Given the description of an element on the screen output the (x, y) to click on. 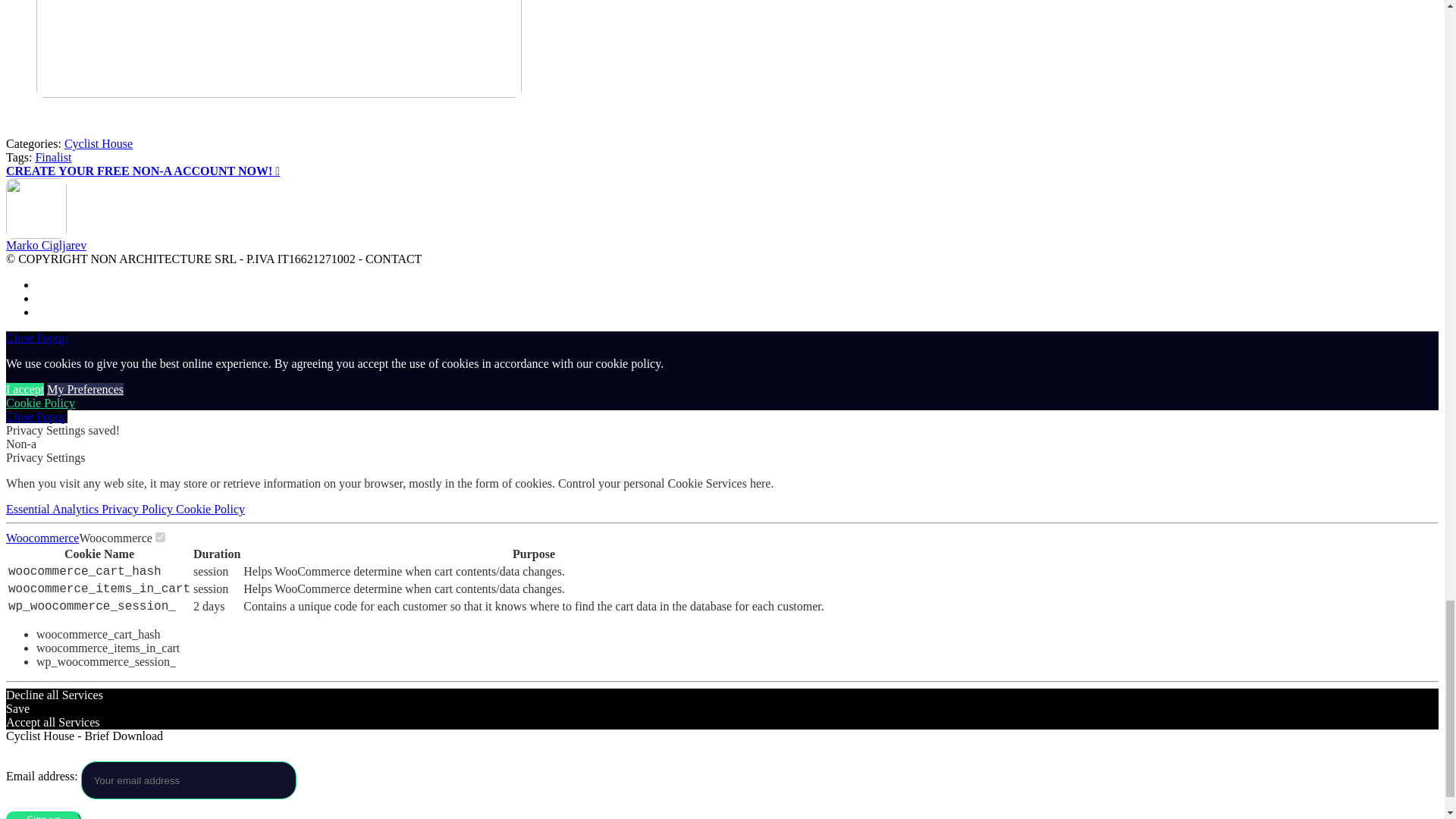
close (35, 416)
on (160, 537)
Sign up (43, 815)
